Given the description of an element on the screen output the (x, y) to click on. 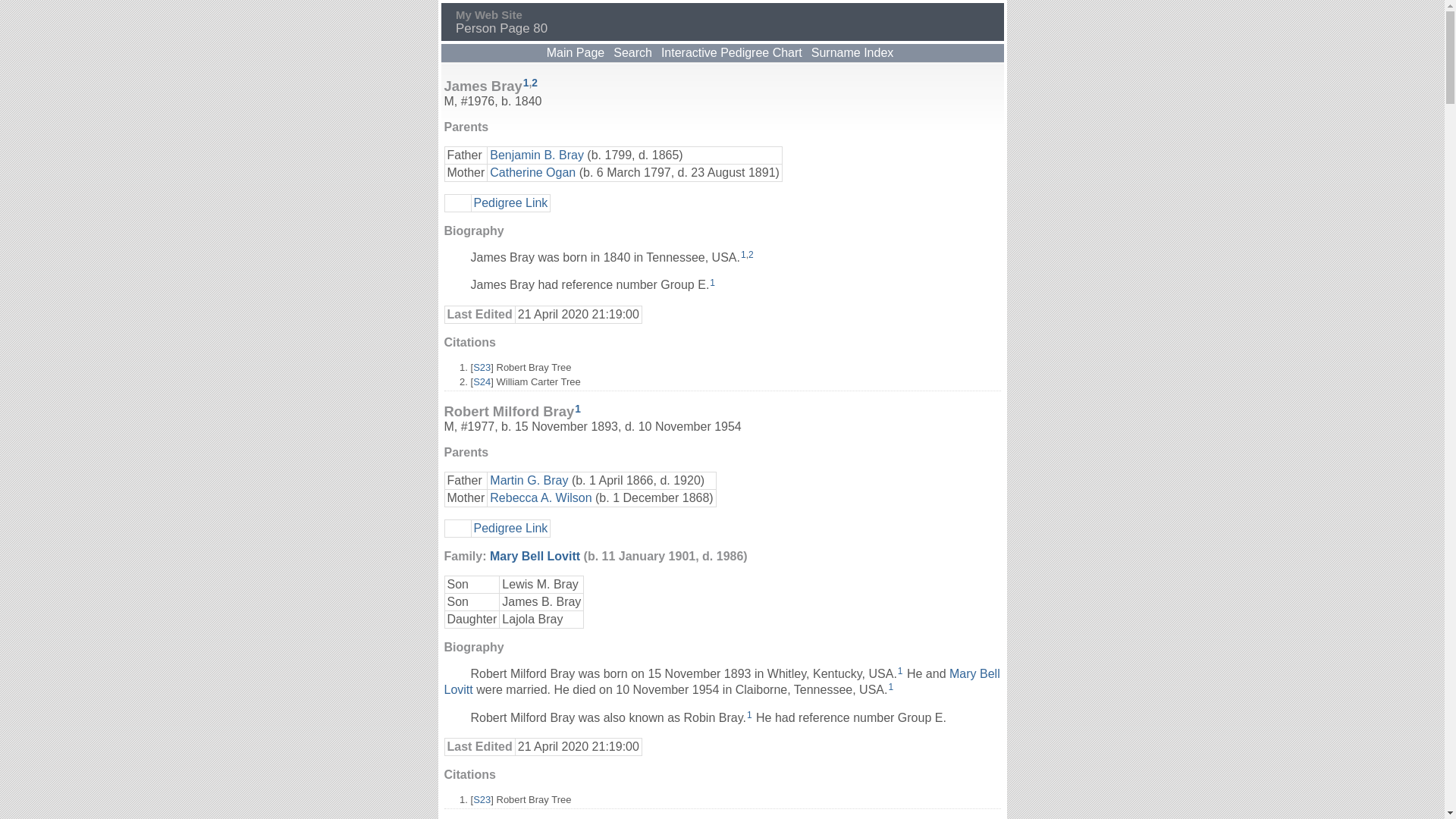
2 Element type: text (534, 82)
Pedigree Link Element type: text (510, 201)
1 Element type: text (890, 686)
Pedigree Link Element type: text (510, 527)
Rebecca A. Wilson Element type: text (540, 497)
S23 Element type: text (481, 799)
Main Page Element type: text (575, 52)
Mary Bell Lovitt Element type: text (534, 555)
1 Element type: text (749, 714)
1 Element type: text (900, 670)
Search Element type: text (632, 52)
Interactive Pedigree Chart Element type: text (731, 52)
1 Element type: text (577, 408)
1 Element type: text (526, 82)
2 Element type: text (750, 254)
Catherine Ogan Element type: text (532, 171)
Mary Bell Lovitt Element type: text (722, 681)
S24 Element type: text (481, 381)
1 Element type: text (743, 254)
S23 Element type: text (481, 367)
Benjamin B. Bray Element type: text (536, 154)
1 Element type: text (712, 282)
Martin G. Bray Element type: text (528, 479)
Surname Index Element type: text (852, 52)
